Given the description of an element on the screen output the (x, y) to click on. 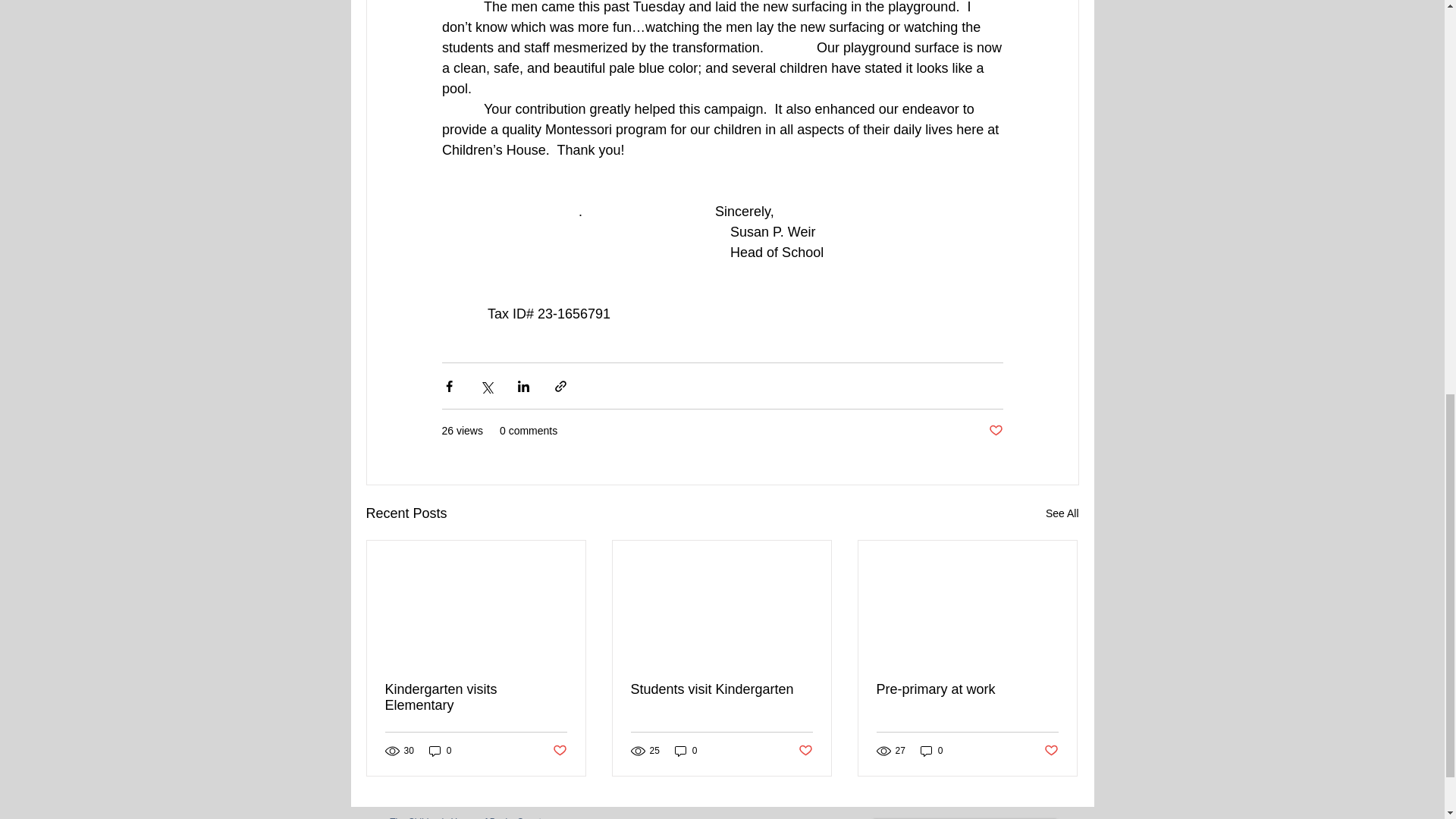
Students visit Kindergarten (721, 689)
See All (1061, 513)
Kindergarten visits Elementary (476, 697)
Post not marked as liked (995, 430)
0 (440, 750)
Post not marked as liked (558, 750)
